Given the description of an element on the screen output the (x, y) to click on. 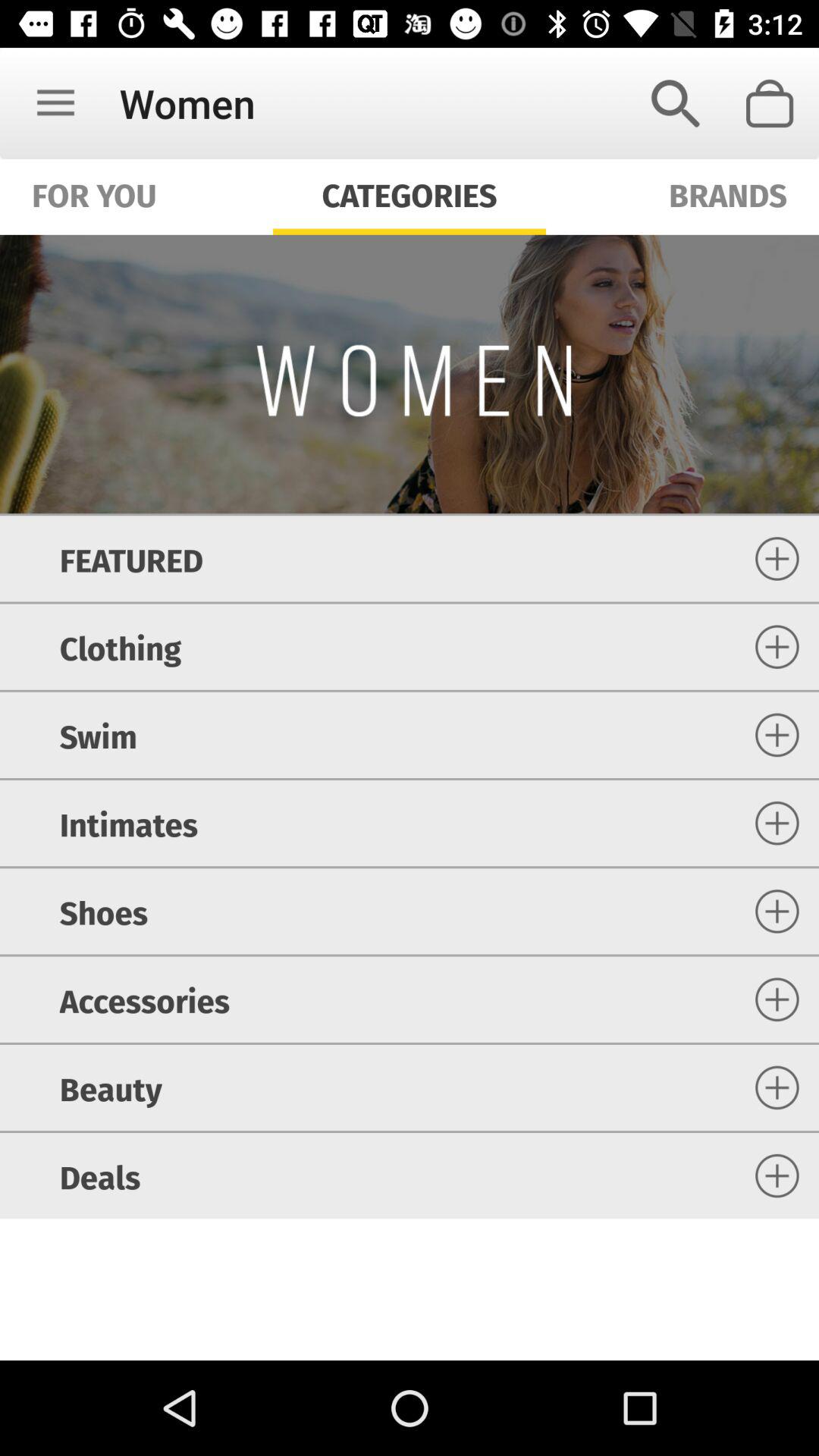
click the item above brands item (675, 103)
